Given the description of an element on the screen output the (x, y) to click on. 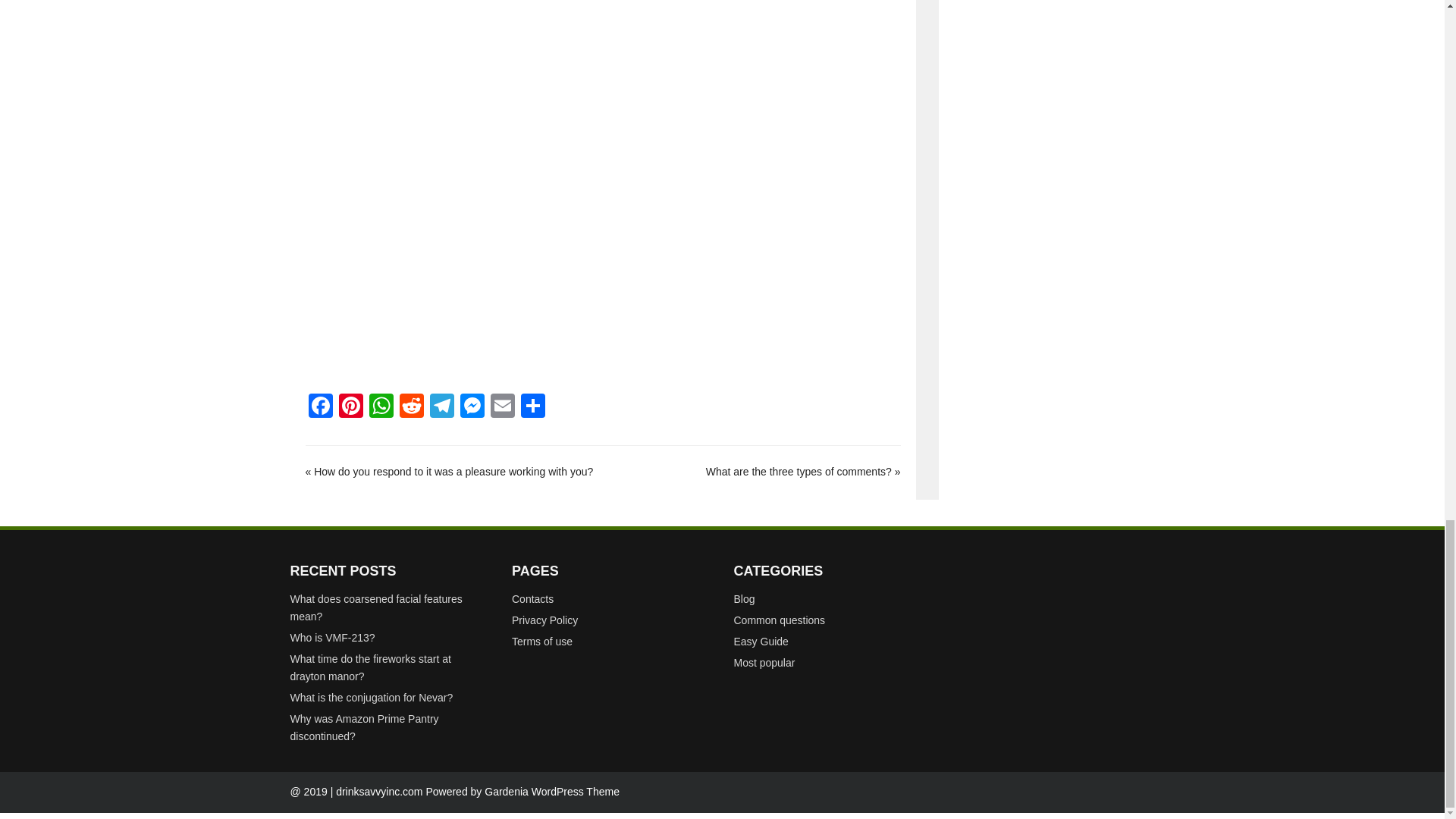
WhatsApp (380, 407)
Reddit (411, 407)
Email (501, 407)
Reddit (411, 407)
Telegram (441, 407)
Messenger (471, 407)
Messenger (471, 407)
Facebook (319, 407)
Pinterest (349, 407)
Telegram (441, 407)
